Given the description of an element on the screen output the (x, y) to click on. 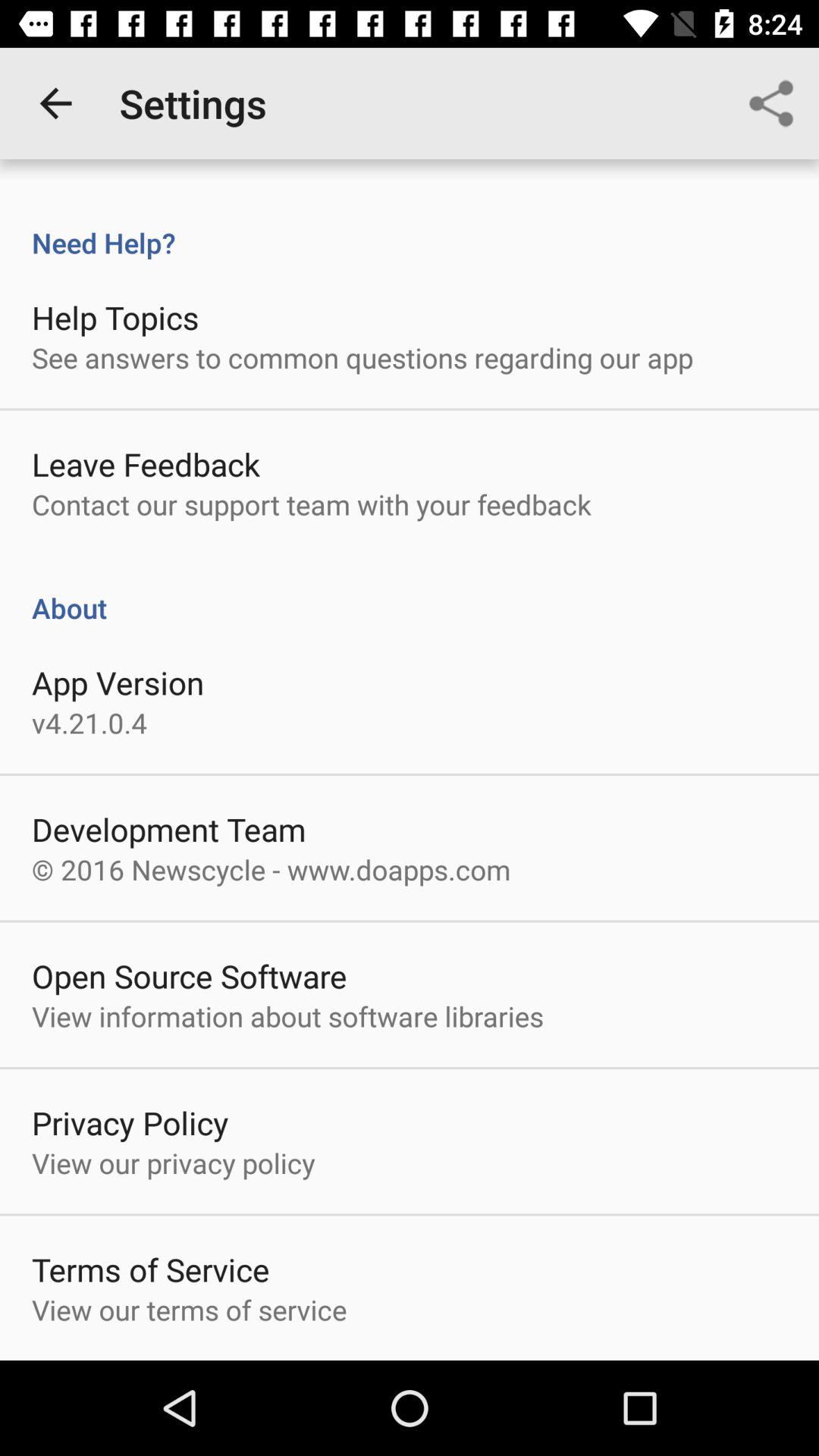
turn on item below the 2016 newscycle www icon (188, 975)
